Given the description of an element on the screen output the (x, y) to click on. 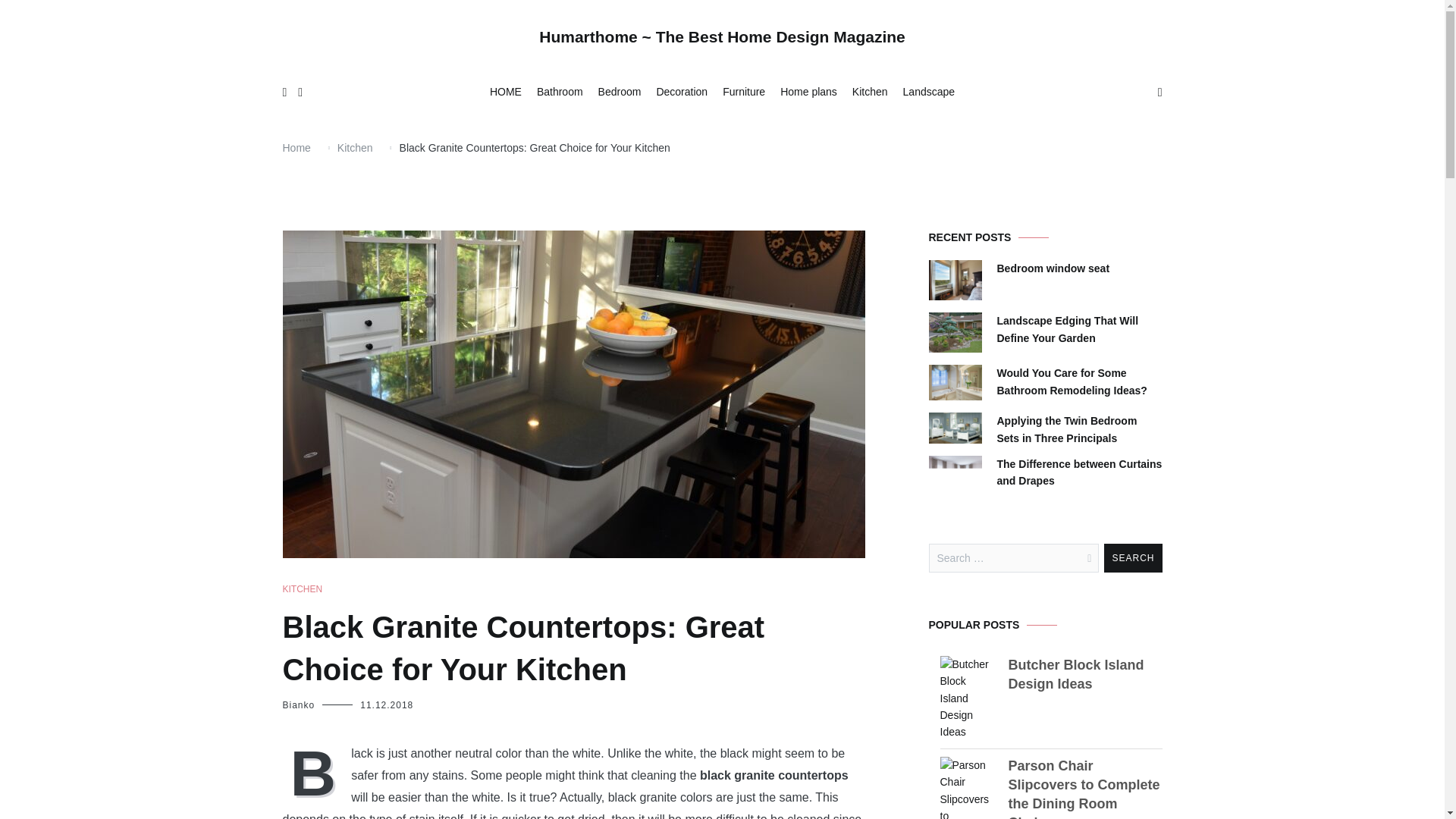
Bianko (298, 705)
Home plans (808, 92)
Furniture (743, 92)
Landscape Edging That Will Define Your Garden (1078, 329)
Bedroom window seat (1052, 268)
Home (296, 147)
Bedroom (620, 92)
KITCHEN (301, 589)
Kitchen (869, 92)
Would You Care for Some Bathroom Remodeling Ideas? (1078, 381)
